Given the description of an element on the screen output the (x, y) to click on. 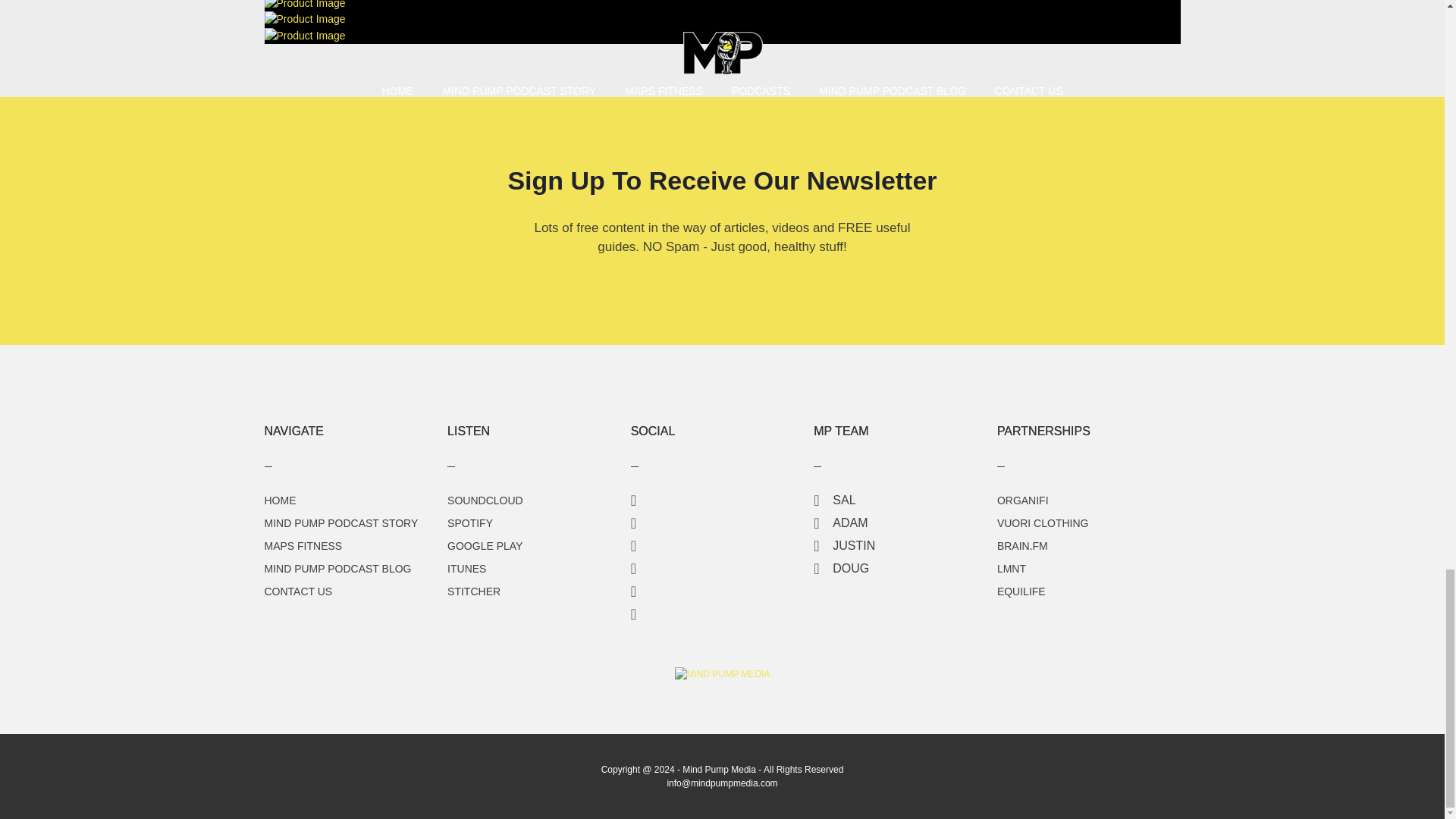
GOOGLE PLAY (484, 545)
ADAM (840, 522)
LMNT (1011, 568)
BRAIN.FM (1022, 545)
ITUNES (466, 568)
VUORI CLOTHING (1043, 522)
SOUNDCLOUD (484, 500)
MIND PUMP PODCAST STORY (340, 522)
MAPS FITNESS (302, 545)
STITCHER (473, 591)
